Given the description of an element on the screen output the (x, y) to click on. 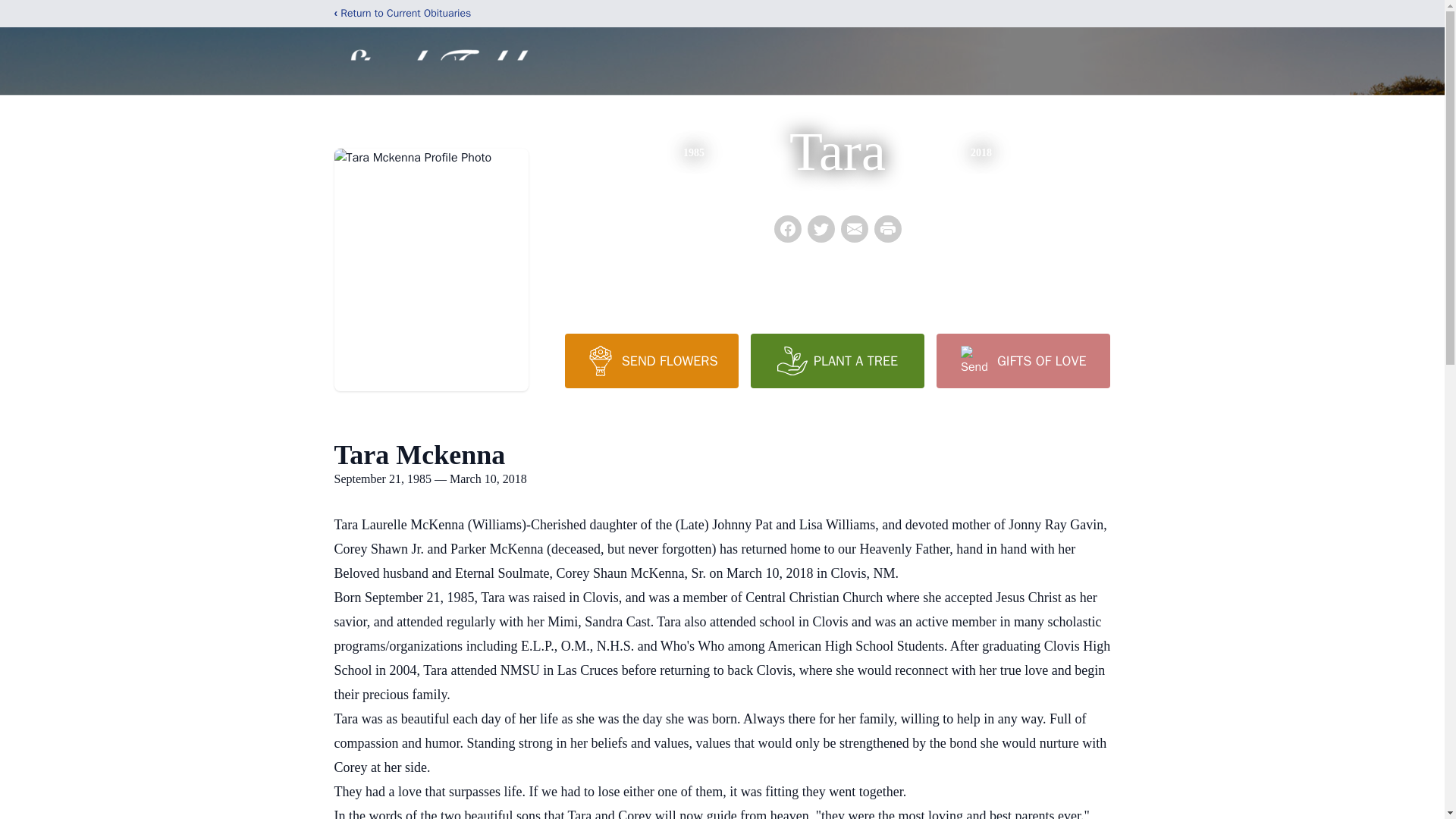
GIFTS OF LOVE (1022, 360)
PLANT A TREE (837, 360)
SEND FLOWERS (651, 360)
